Given the description of an element on the screen output the (x, y) to click on. 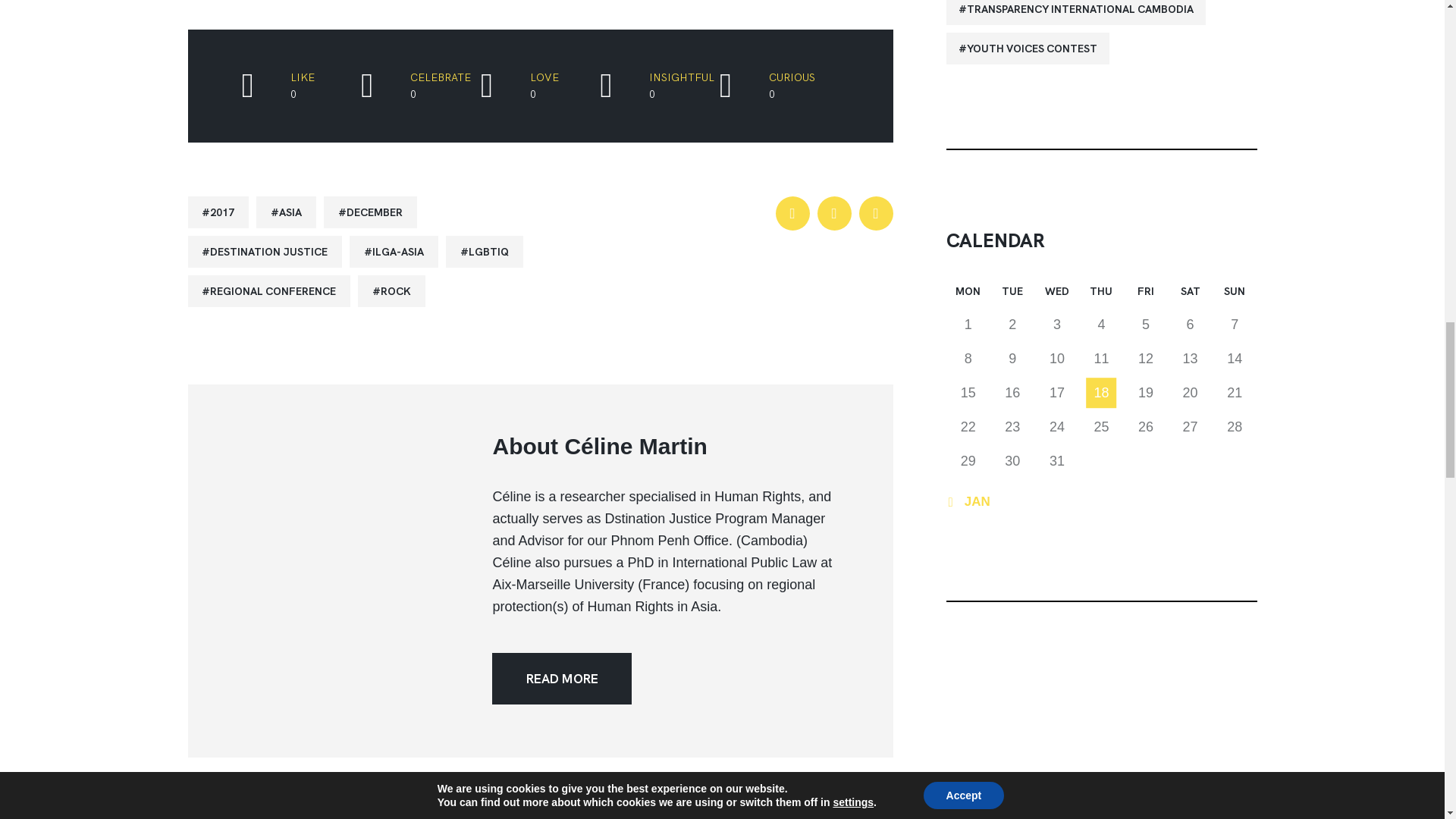
DECEMBER (369, 212)
Tuesday (1012, 294)
ILGA-ASIA (393, 251)
ROCK (391, 291)
Sunday (1234, 294)
Saturday (1189, 294)
Wednesday (1057, 294)
LGBTIQ (483, 251)
READ MORE (561, 678)
REGIONAL CONFERENCE (268, 291)
Monday (968, 294)
2017 (217, 212)
Friday (1146, 294)
Thursday (1101, 294)
DESTINATION JUSTICE (264, 251)
